Given the description of an element on the screen output the (x, y) to click on. 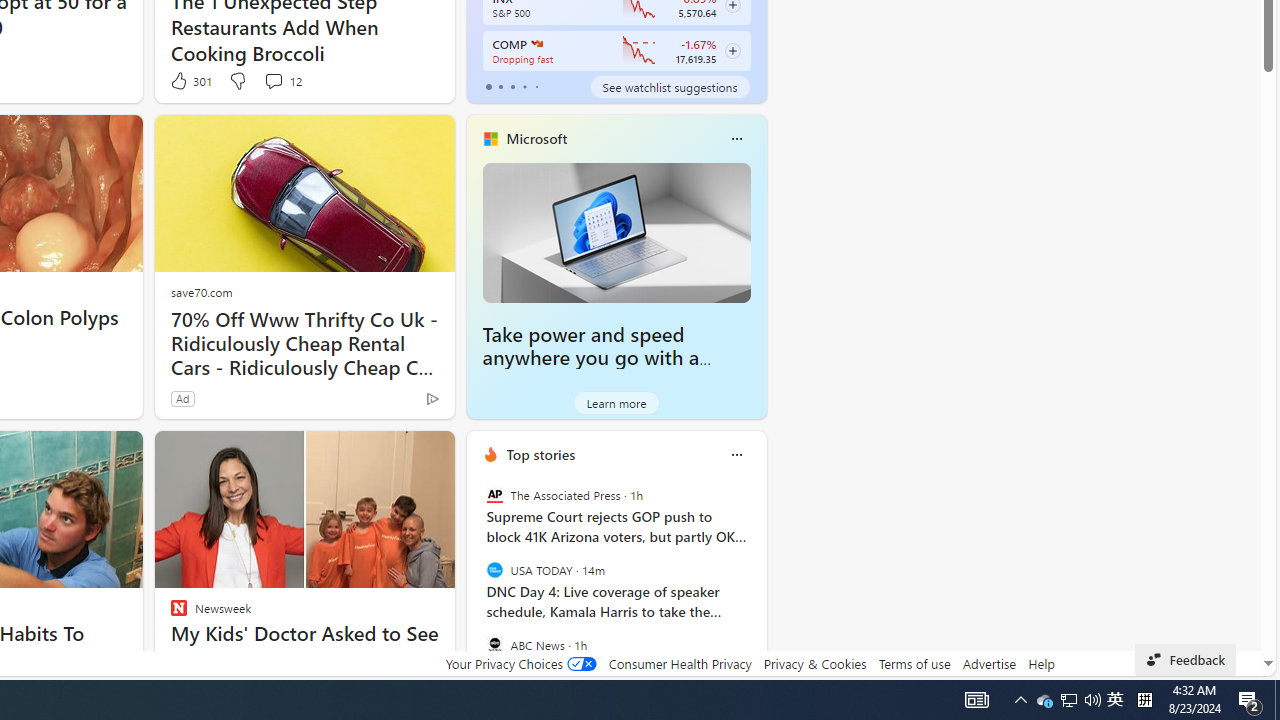
Take power and speed anywhere you go with a Windows laptop. (591, 357)
previous (476, 583)
View comments 12 Comment (281, 80)
301 Like (190, 80)
ABC News (494, 644)
Hide this story (393, 454)
